Given the description of an element on the screen output the (x, y) to click on. 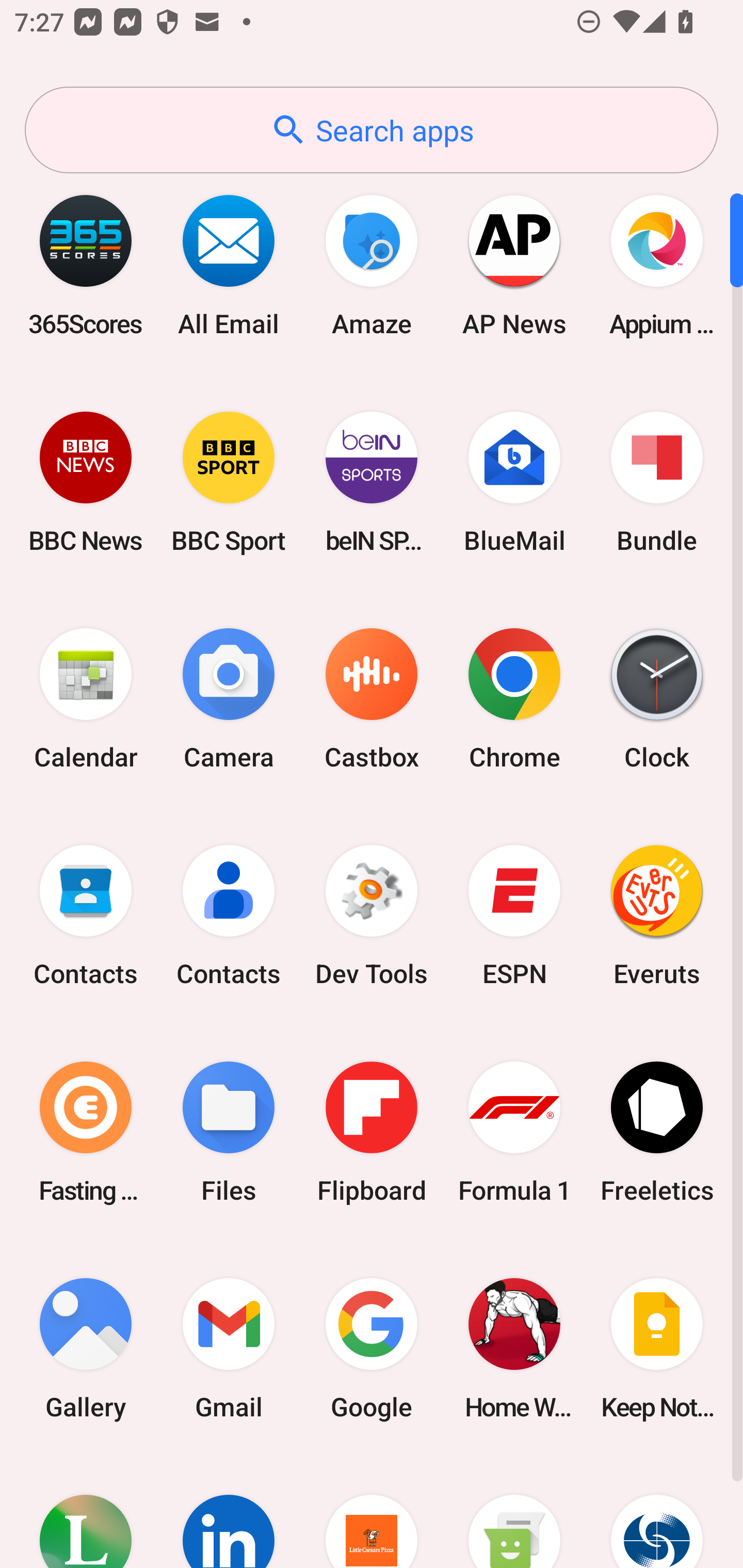
  Search apps (371, 130)
365Scores (85, 264)
All Email (228, 264)
Amaze (371, 264)
AP News (514, 264)
Appium Settings (656, 264)
BBC News (85, 482)
BBC Sport (228, 482)
beIN SPORTS (371, 482)
BlueMail (514, 482)
Bundle (656, 482)
Calendar (85, 699)
Camera (228, 699)
Castbox (371, 699)
Chrome (514, 699)
Clock (656, 699)
Contacts (85, 915)
Contacts (228, 915)
Dev Tools (371, 915)
ESPN (514, 915)
Everuts (656, 915)
Fasting Coach (85, 1131)
Files (228, 1131)
Flipboard (371, 1131)
Formula 1 (514, 1131)
Freeletics (656, 1131)
Gallery (85, 1348)
Gmail (228, 1348)
Google (371, 1348)
Home Workout (514, 1348)
Keep Notes (656, 1348)
